Given the description of an element on the screen output the (x, y) to click on. 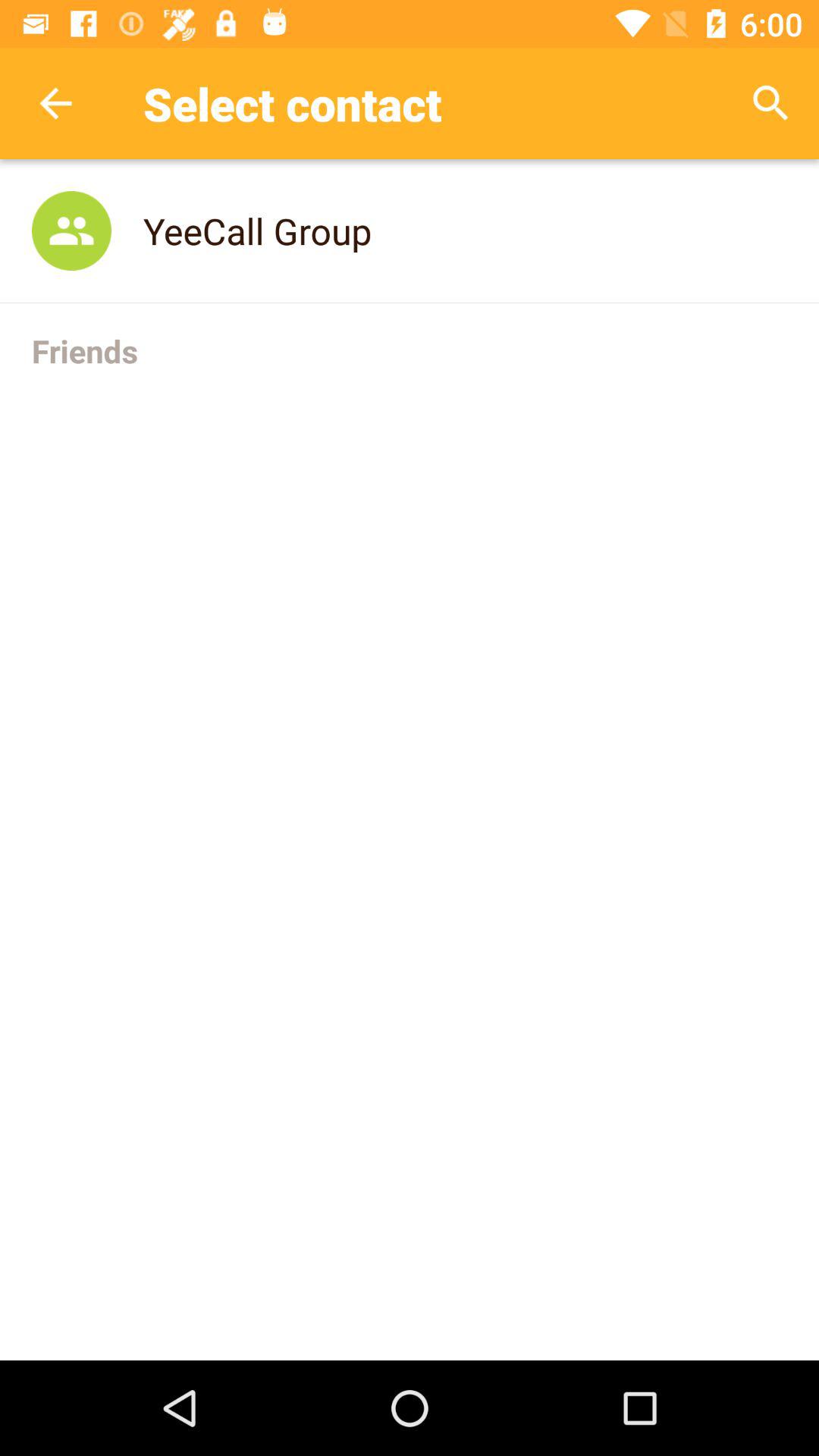
turn on the item next to select contact item (771, 103)
